Given the description of an element on the screen output the (x, y) to click on. 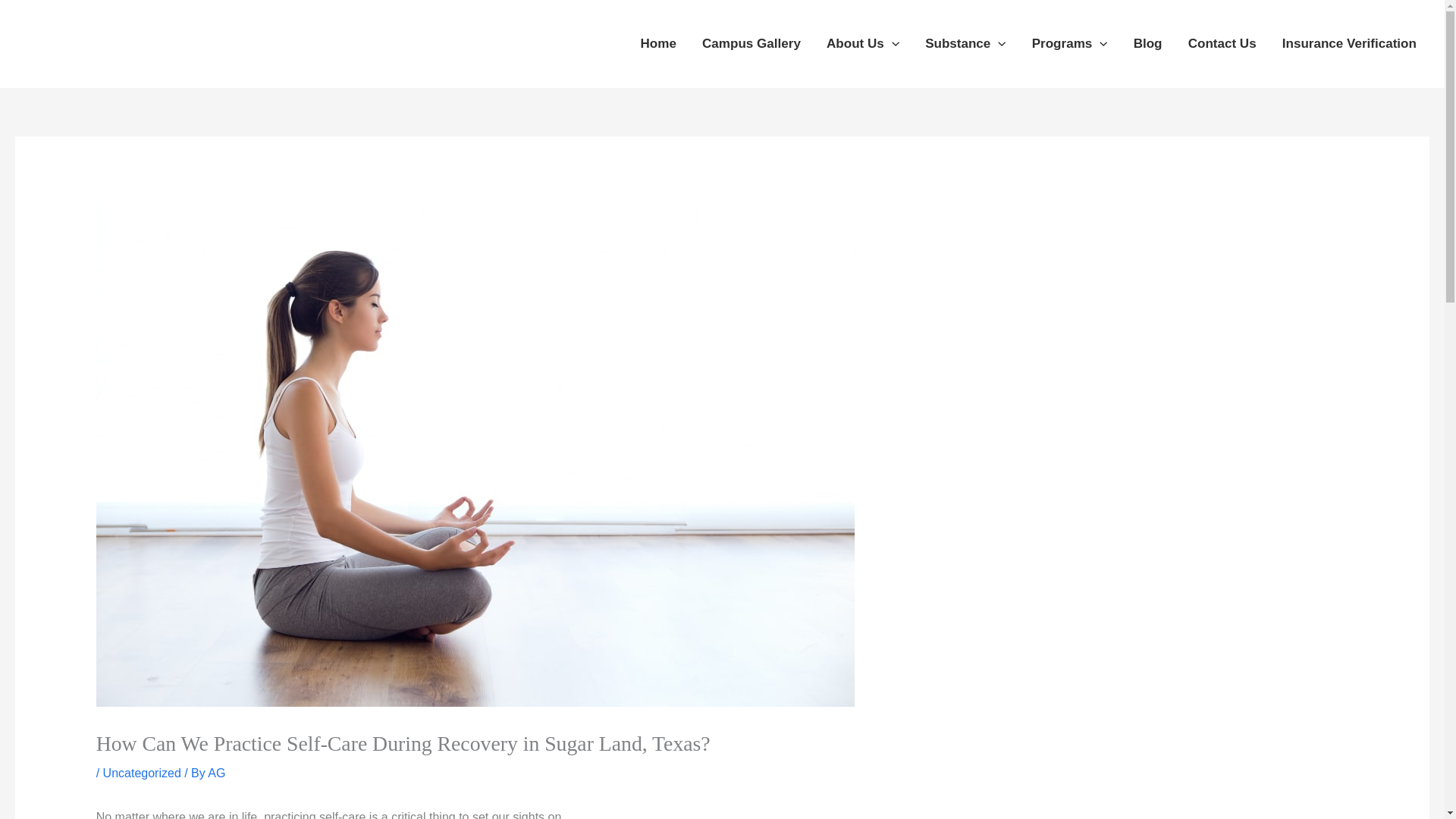
Substance (965, 43)
Insurance Verification (1349, 43)
Contact Us (1221, 43)
About Us (862, 43)
Blog (1147, 43)
Campus Gallery (750, 43)
Home (658, 43)
View all posts by AG (216, 772)
Programs (1070, 43)
